Given the description of an element on the screen output the (x, y) to click on. 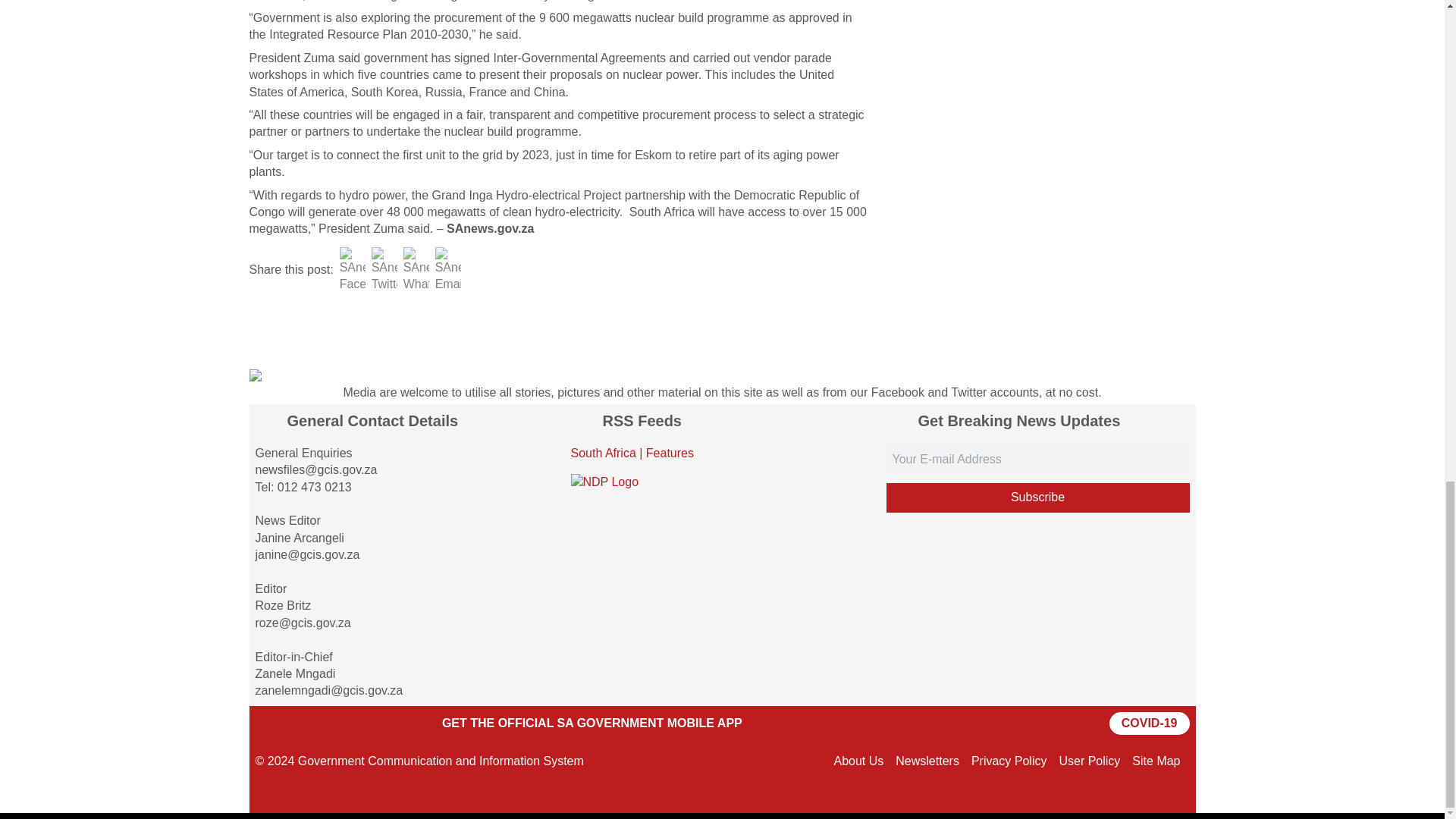
Features (670, 452)
About Us (857, 760)
Download from the iTunes App Store (381, 722)
User Policy (1088, 760)
Privacy Policy (1008, 760)
Site Map (1155, 760)
South Africa (602, 452)
Download from the Google Play Store (292, 722)
Subscribe (1037, 497)
Newsletters (927, 760)
COVID-19 (1149, 722)
Subscribe (1037, 497)
